Given the description of an element on the screen output the (x, y) to click on. 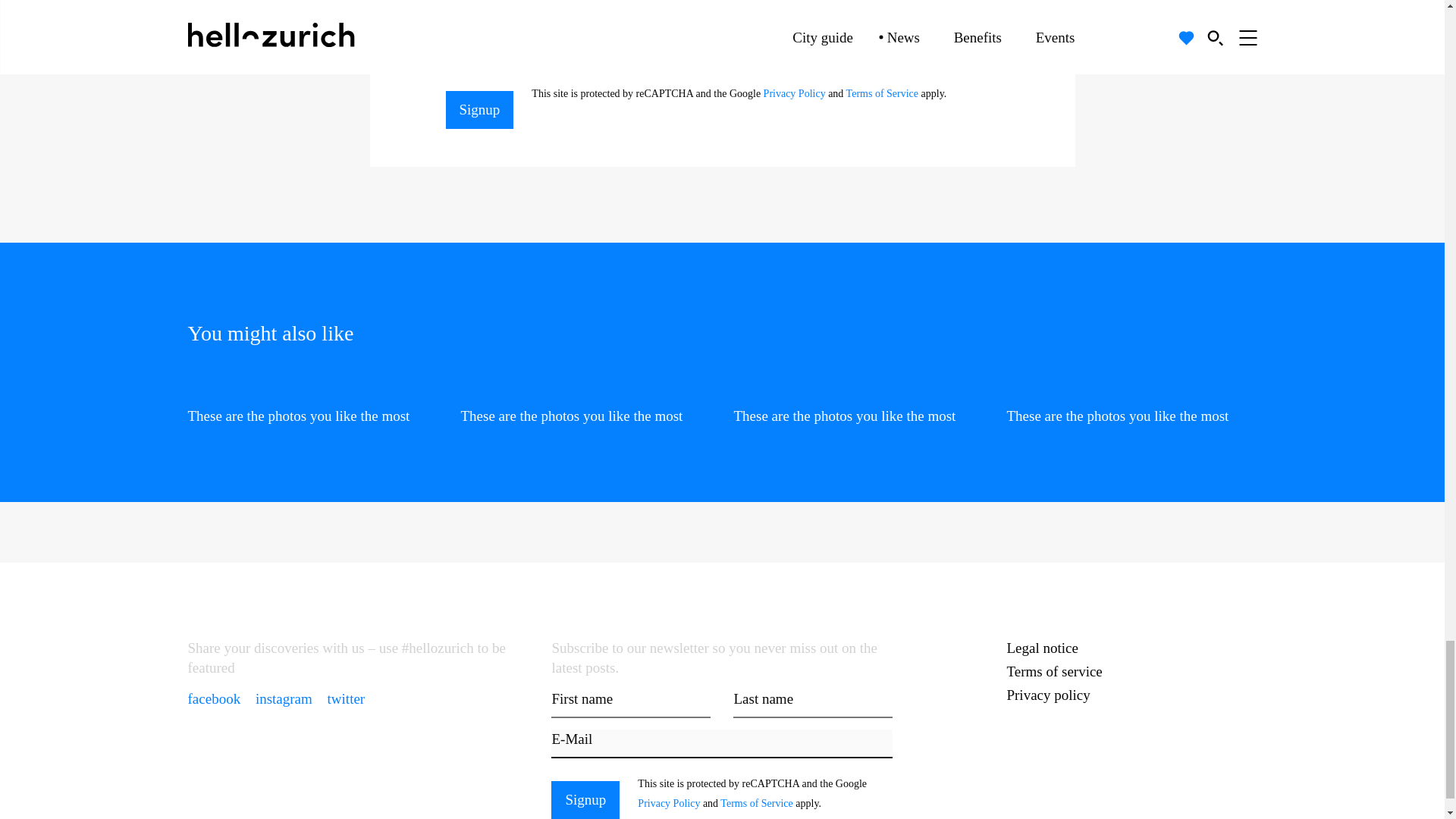
Last name (812, 703)
Signup (585, 800)
These are the photos you like the most (858, 402)
Signup (479, 109)
These are the photos you like the most (586, 402)
These are the photos you like the most (312, 402)
Signup (585, 800)
Signup (479, 109)
First name (630, 703)
These are the photos you like the most (1132, 402)
